Given the description of an element on the screen output the (x, y) to click on. 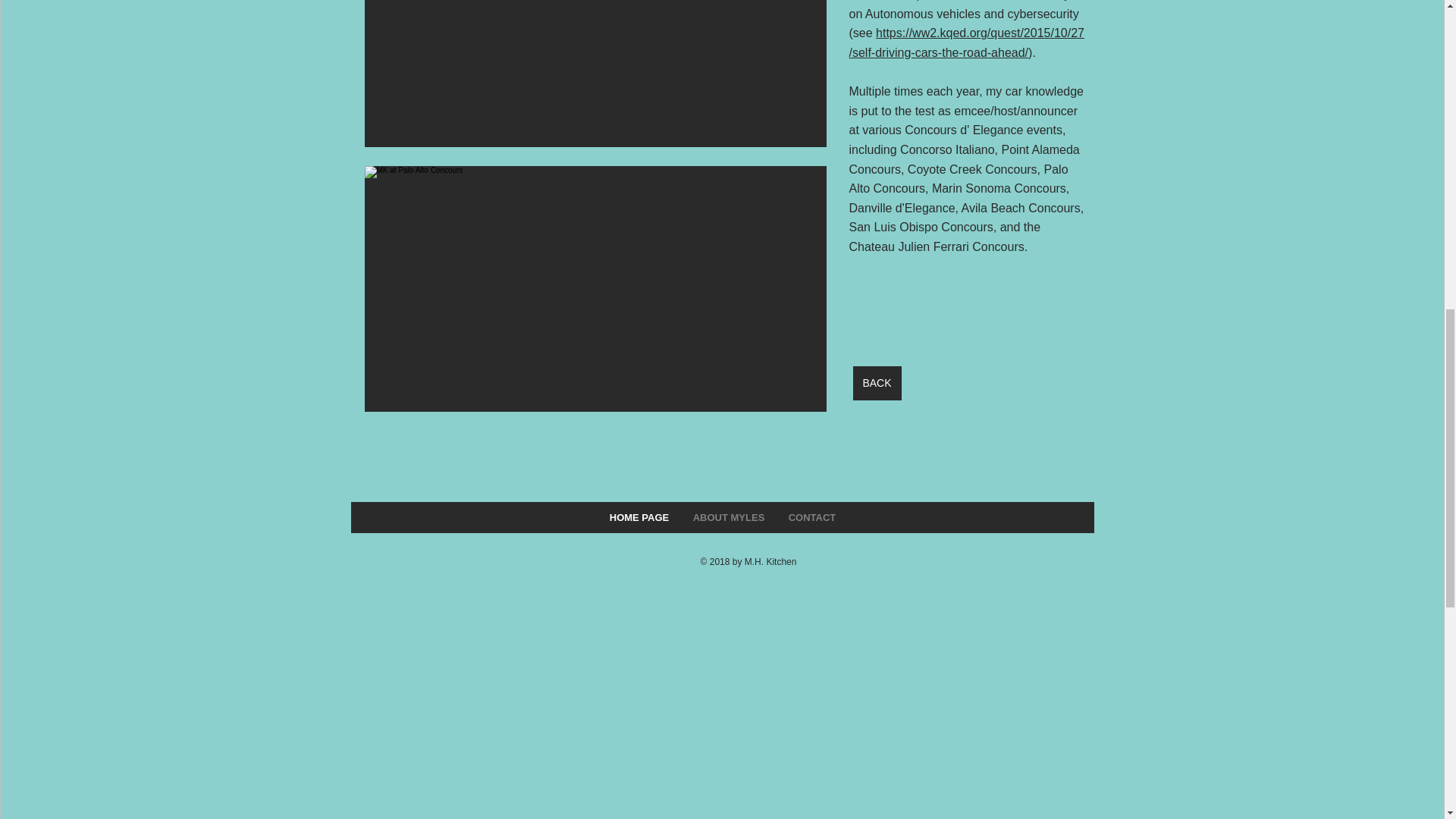
CONTACT (811, 517)
ABOUT MYLES (728, 517)
BACK (876, 383)
HOME PAGE (638, 517)
